Given the description of an element on the screen output the (x, y) to click on. 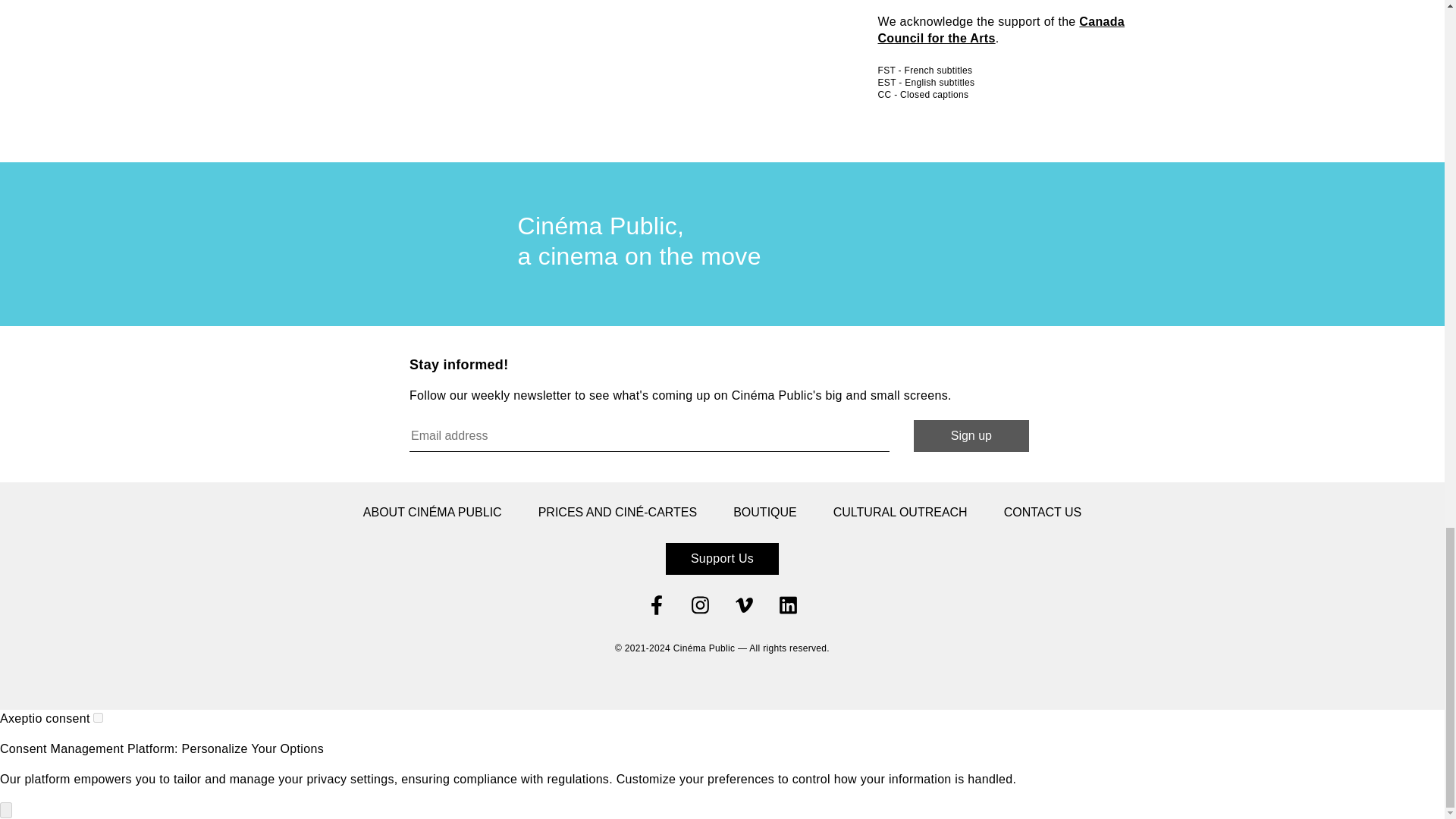
Sign up (971, 436)
Support Us (721, 558)
CONTACT US (1042, 512)
BOUTIQUE (764, 512)
CULTURAL OUTREACH (900, 512)
Canada Council for the Arts (1001, 30)
Sign up (971, 436)
